Given the description of an element on the screen output the (x, y) to click on. 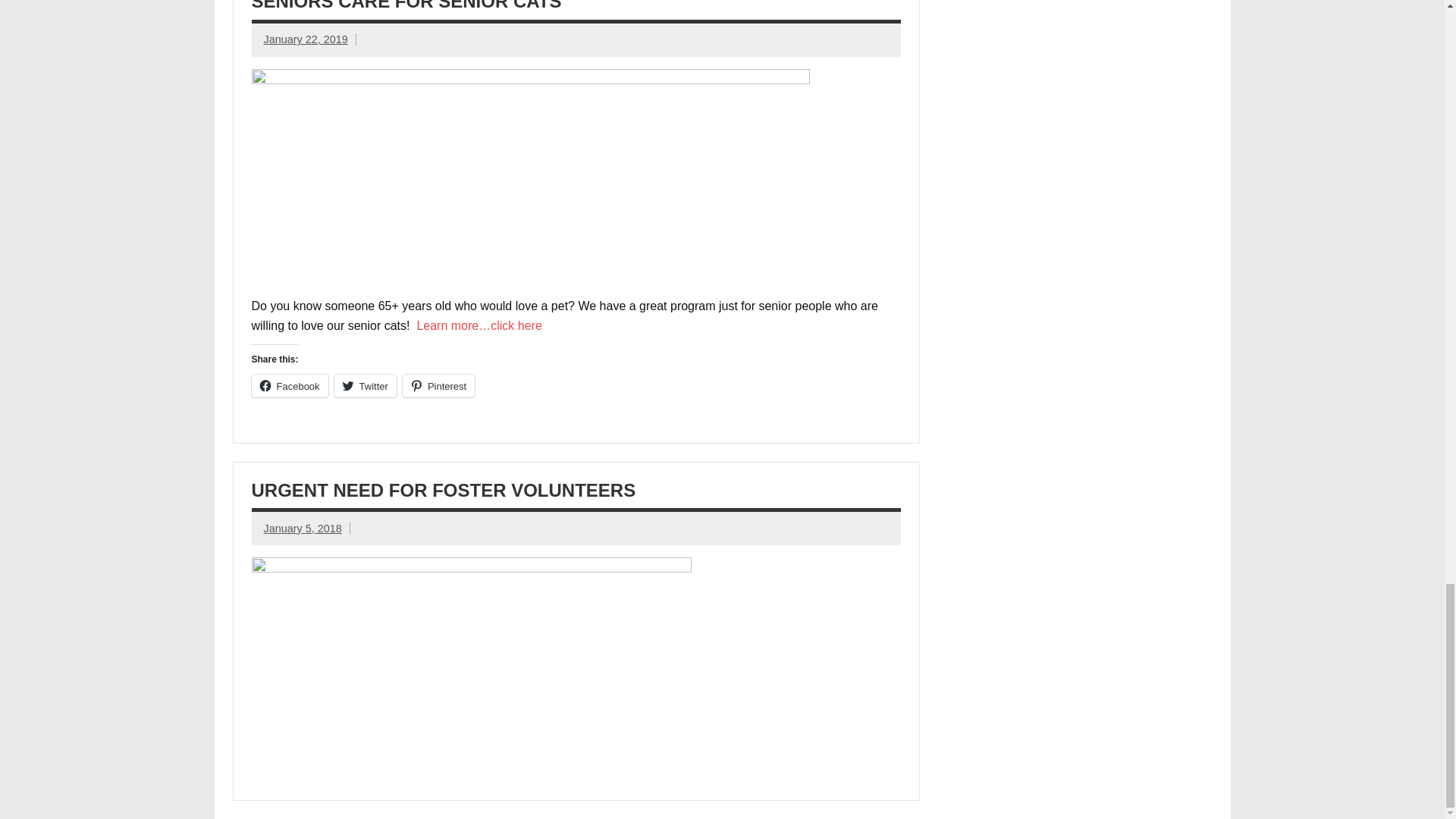
10:00 pm (302, 528)
Click to share on Twitter (365, 385)
Click to share on Facebook (290, 385)
9:42 pm (305, 39)
Click to share on Pinterest (438, 385)
